Given the description of an element on the screen output the (x, y) to click on. 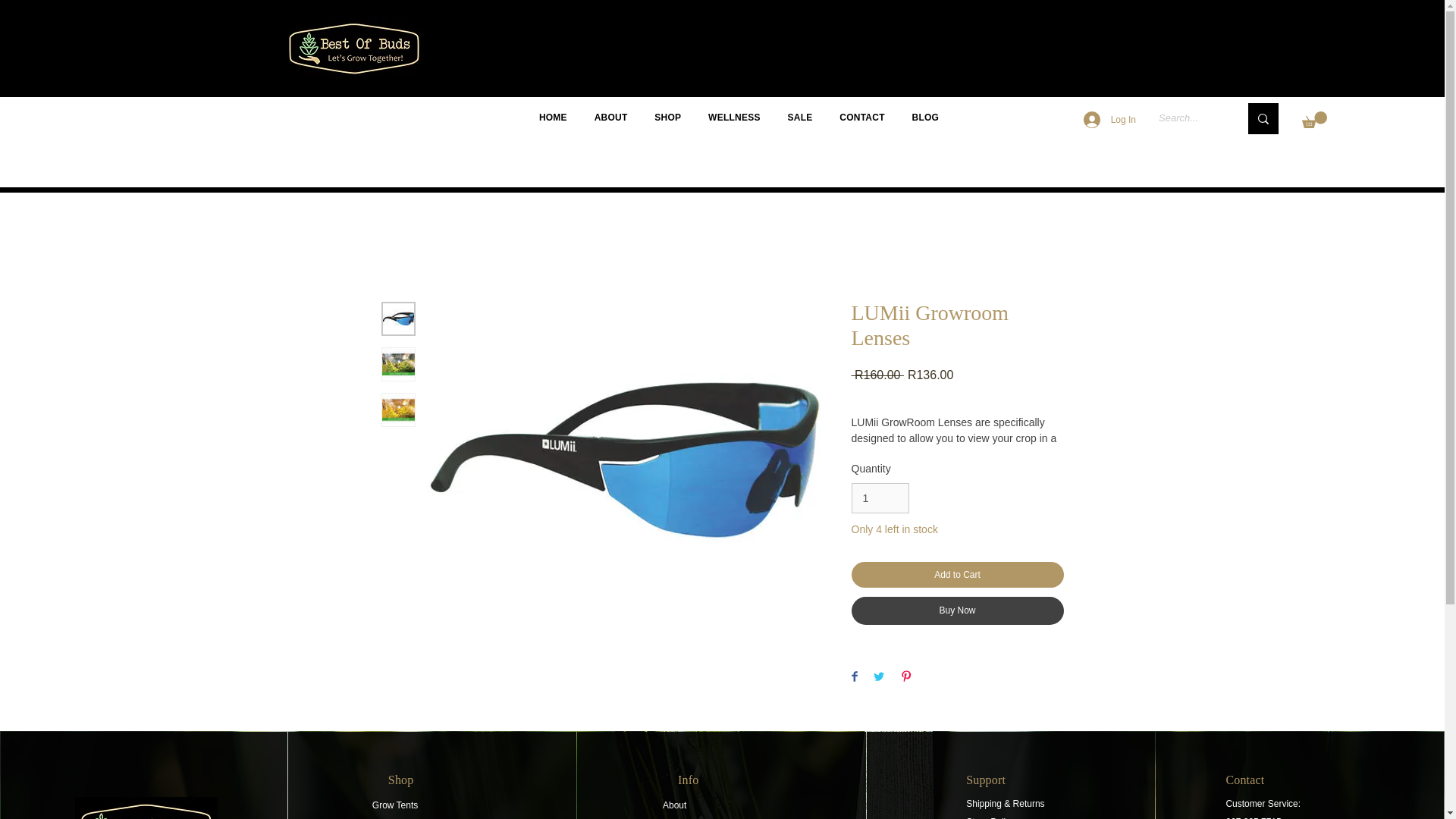
Buy Now (956, 610)
CONTACT (861, 117)
SALE (800, 117)
Log In (1110, 119)
WELLNESS (733, 117)
Add to Cart (956, 574)
BLOG (925, 117)
1 (879, 498)
ABOUT (611, 117)
HOME (553, 117)
SHOP (667, 117)
